Given the description of an element on the screen output the (x, y) to click on. 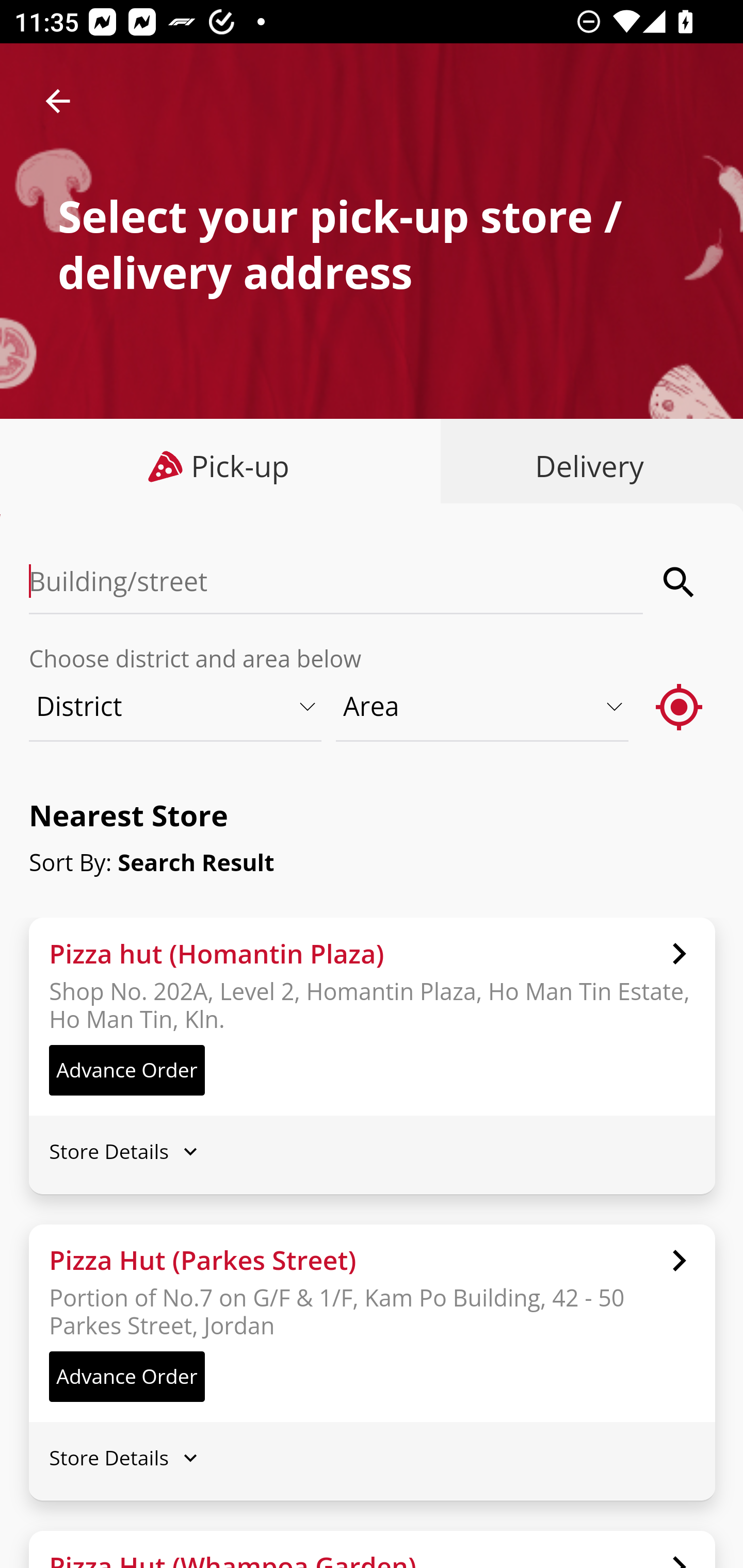
arrow_back (58, 100)
prev next Pick-up Delivery (371, 467)
Delivery (585, 466)
search (679, 582)
gps_fixed (679, 706)
District (175, 706)
Area (482, 706)
Store Details (371, 1149)
Store Details (371, 1457)
